Given the description of an element on the screen output the (x, y) to click on. 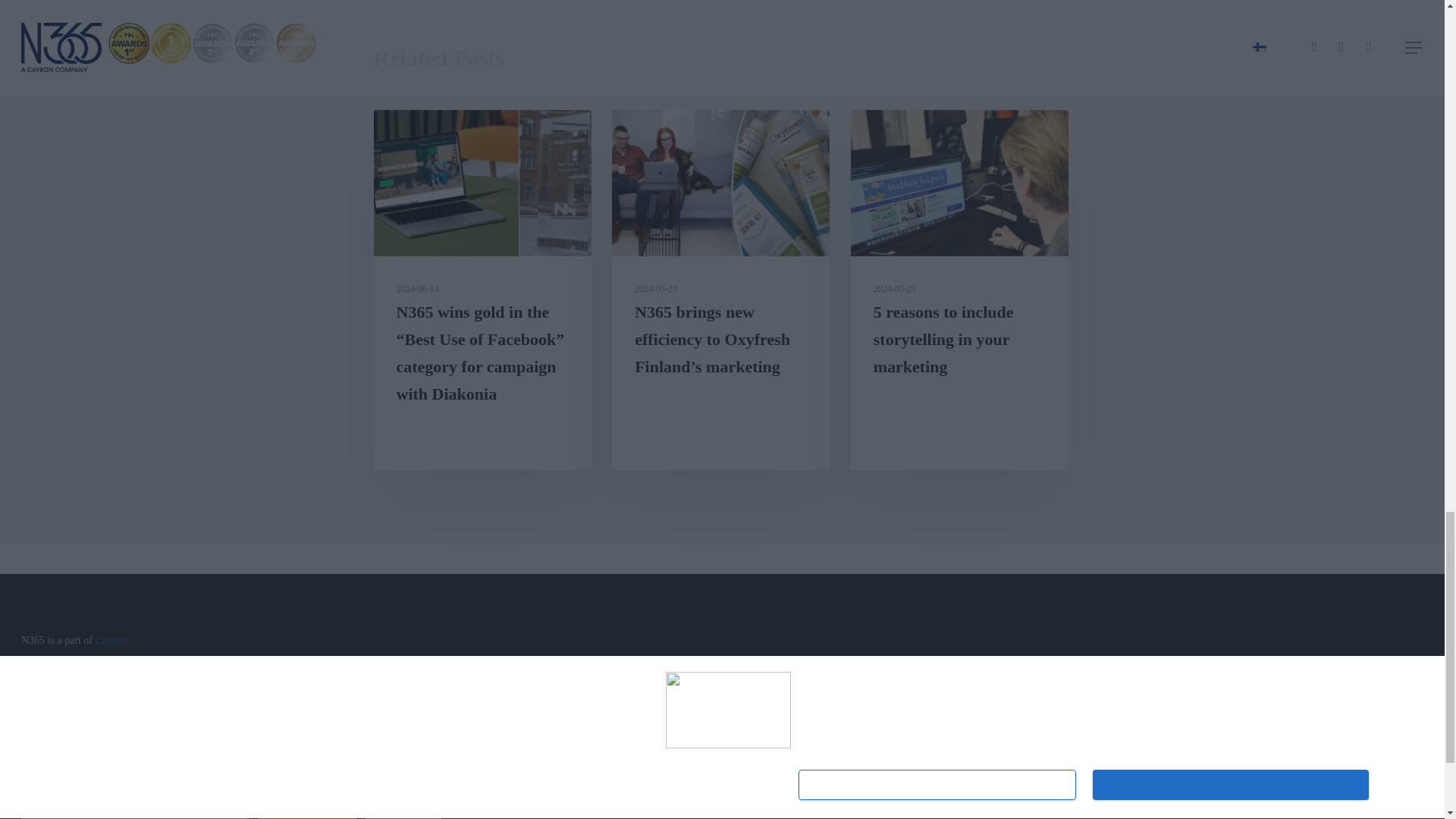
Caybon (112, 640)
